Given the description of an element on the screen output the (x, y) to click on. 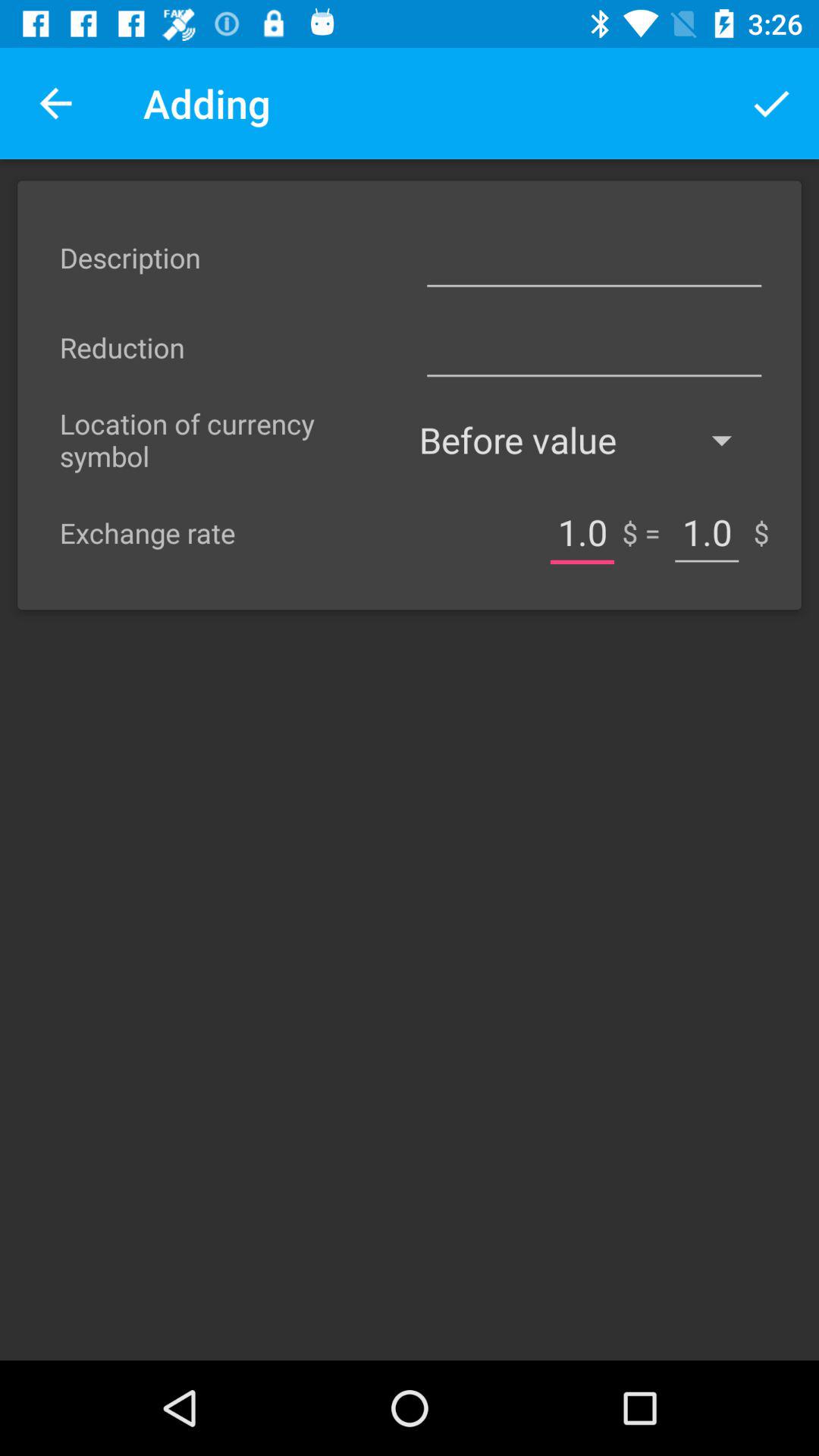
input reduction value (594, 347)
